Given the description of an element on the screen output the (x, y) to click on. 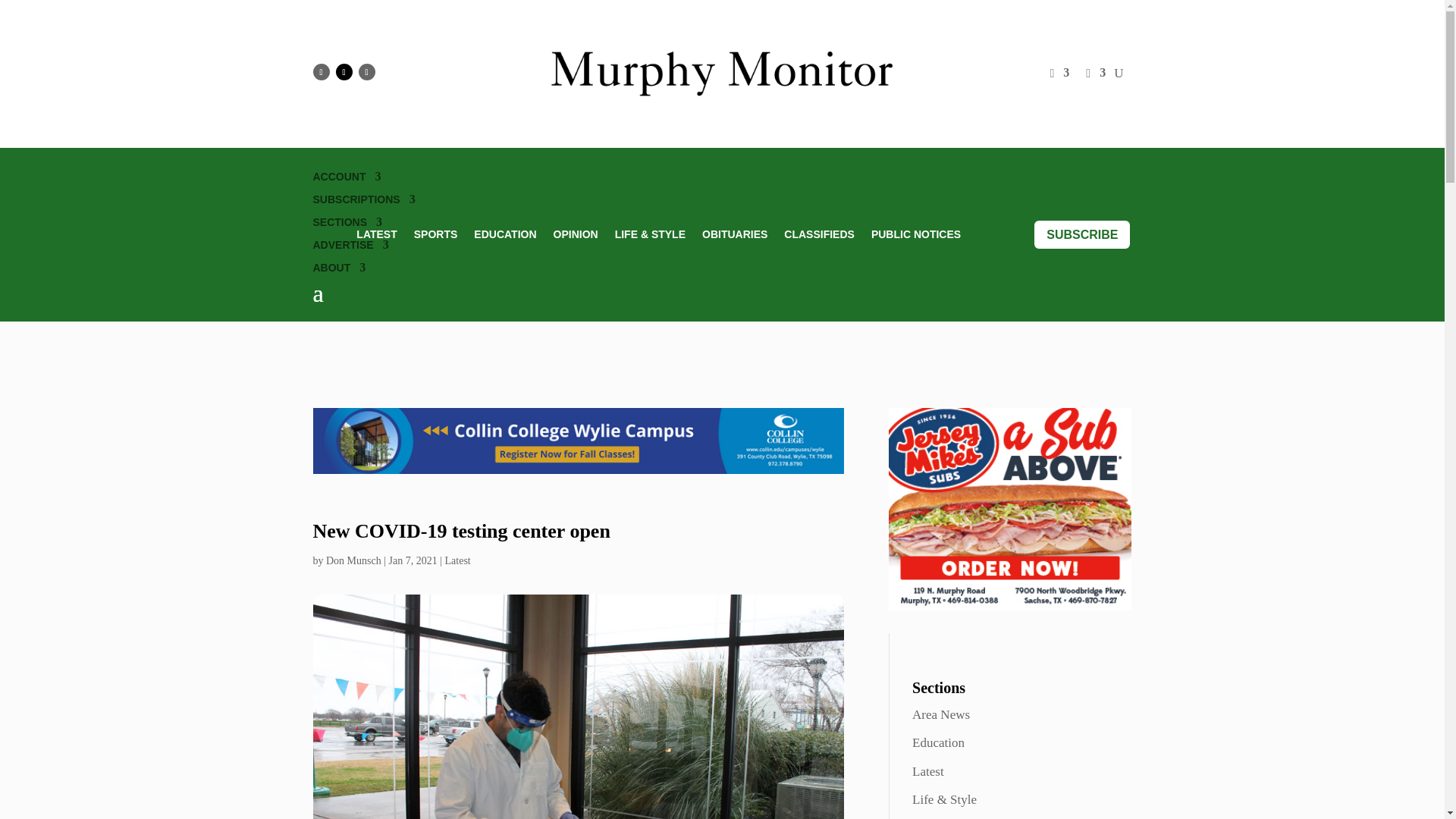
SUBSCRIPTIONS (363, 202)
Follow on X (343, 71)
logo-wylie-news-plus-tagline (721, 73)
SECTIONS (347, 225)
Follow on Facebook (321, 71)
Follow on Instagram (366, 71)
ABOUT (339, 270)
Jersey Mikes 15095 Web banner Above 300x250 (1009, 508)
COVID testing (578, 706)
ADVERTISE (350, 247)
